Given the description of an element on the screen output the (x, y) to click on. 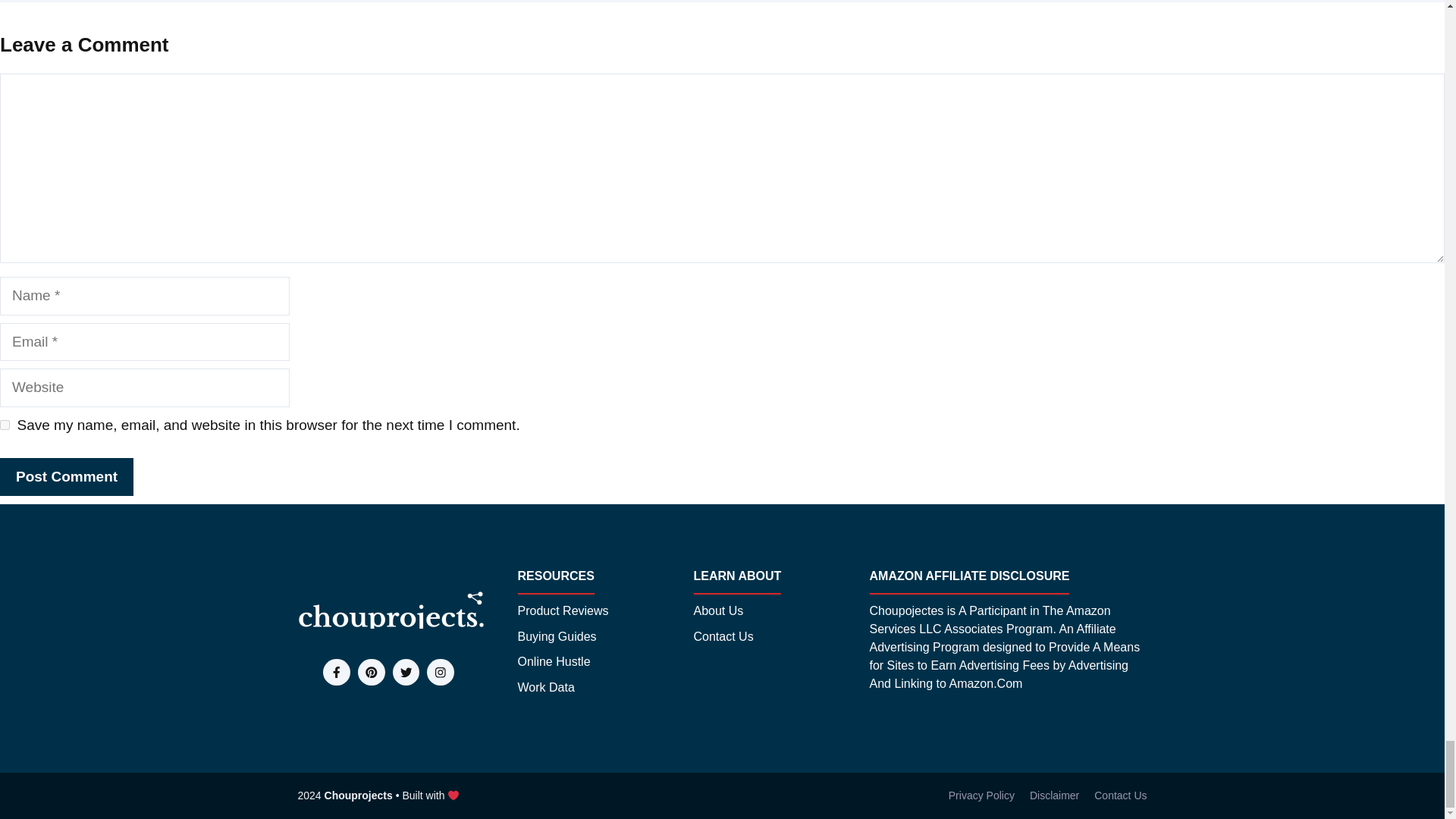
Contact Us (722, 637)
Buying Guides (555, 637)
Post Comment (66, 476)
Product Reviews (562, 610)
Privacy Policy (981, 795)
Post Comment (66, 476)
Work Data (544, 687)
yes (5, 424)
Online Hustle (552, 661)
About Us (717, 610)
